Given the description of an element on the screen output the (x, y) to click on. 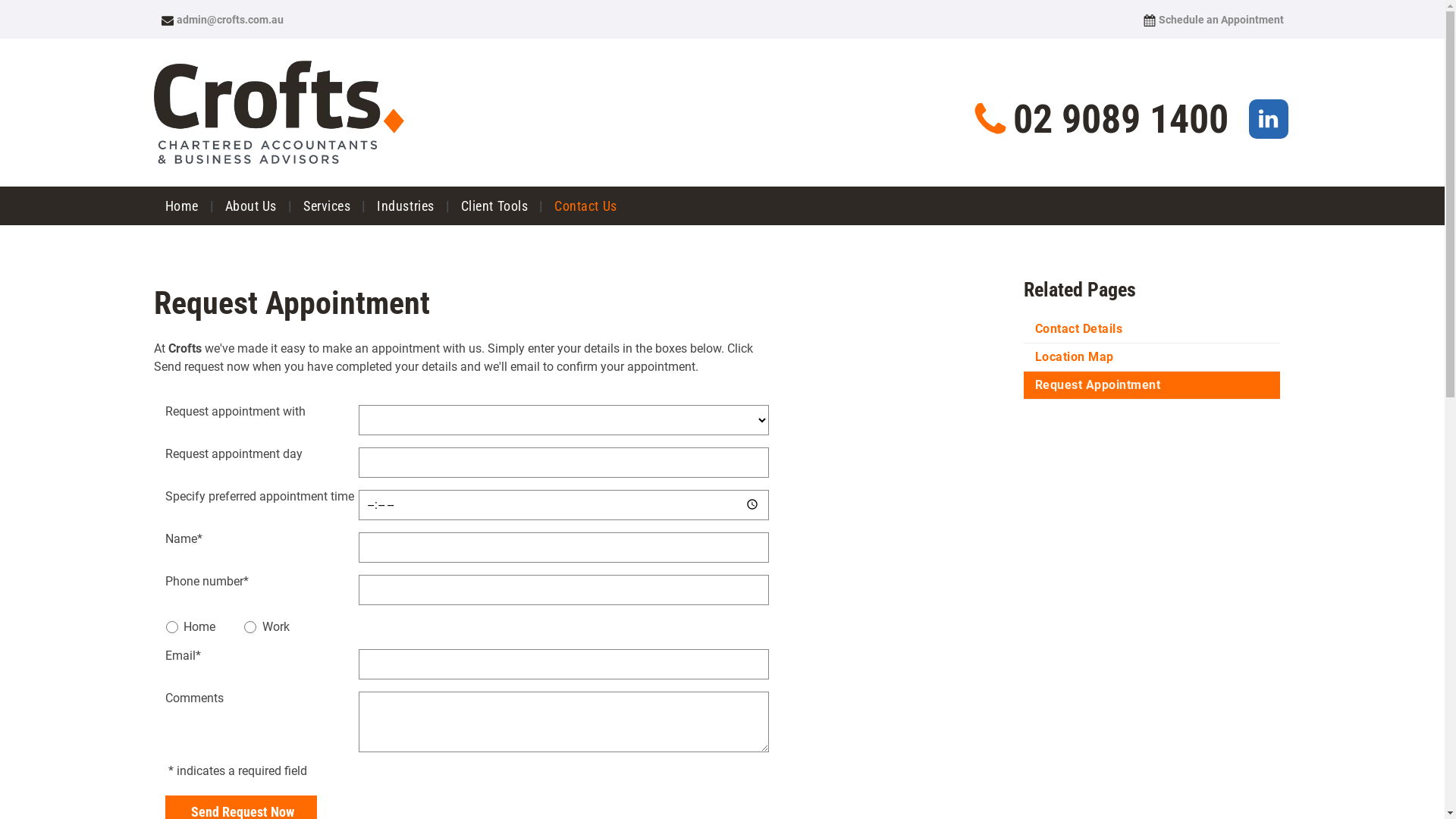
Schedule an Appointment Element type: text (1213, 19)
Client Tools Element type: text (494, 205)
Contact Details Element type: text (1151, 328)
Industries Element type: text (405, 205)
02 9089 1400 Element type: text (1099, 118)
Contact Us Element type: text (584, 205)
Services Element type: text (326, 205)
Location Map Element type: text (1151, 356)
Home Element type: text (181, 205)
admin@crofts.com.au Element type: text (221, 19)
About Us Element type: text (250, 205)
Request Appointment Element type: text (1151, 384)
